Given the description of an element on the screen output the (x, y) to click on. 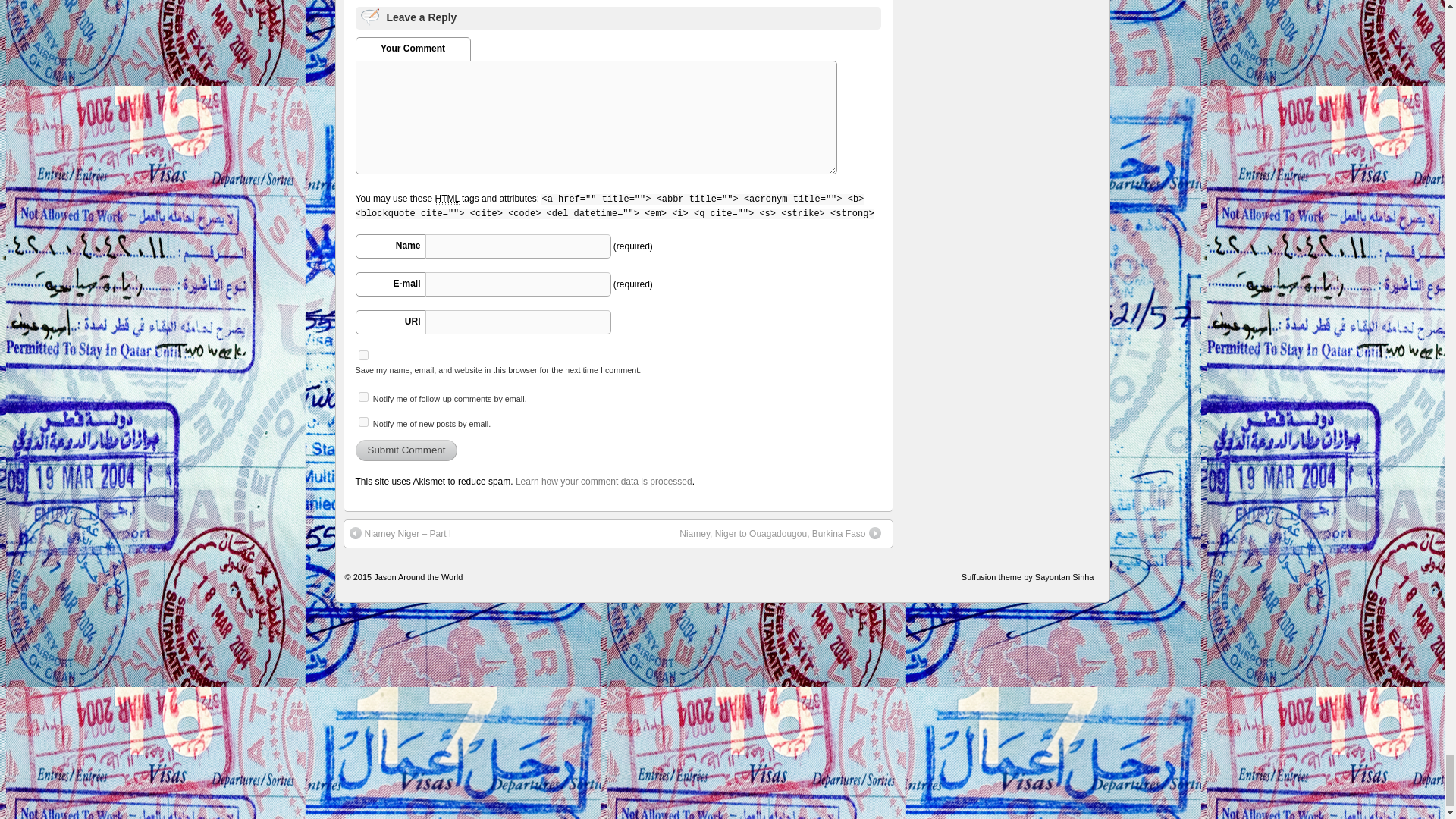
Submit Comment (406, 450)
HyperText Markup Language (445, 198)
yes (363, 355)
subscribe (363, 421)
subscribe (363, 397)
